Given the description of an element on the screen output the (x, y) to click on. 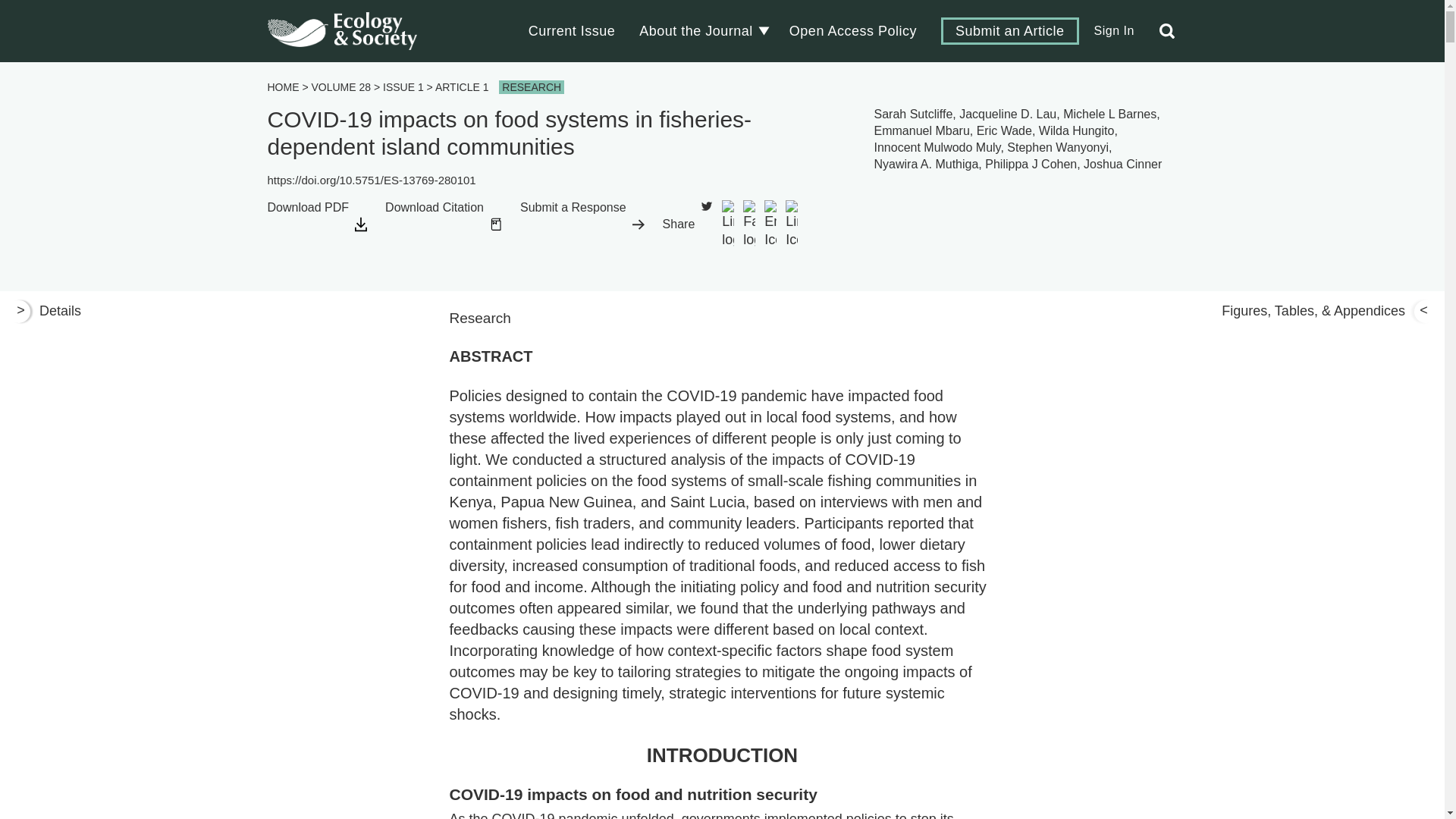
Wilda Hungito (1077, 130)
Current Issue (571, 30)
Nyawira A. Muthiga (926, 164)
Sign In (1113, 30)
Michele L Barnes (1109, 113)
Stephen Wanyonyi (1057, 146)
Eric Wade (1004, 130)
Innocent Mulwodo Muly (938, 146)
About the Journal (695, 30)
HOME (282, 87)
Sarah Sutcliffe (914, 113)
Submit an Article (1009, 31)
Philippa J Cohen (1031, 164)
Submit a Response (582, 224)
Open Access Policy (853, 30)
